Given the description of an element on the screen output the (x, y) to click on. 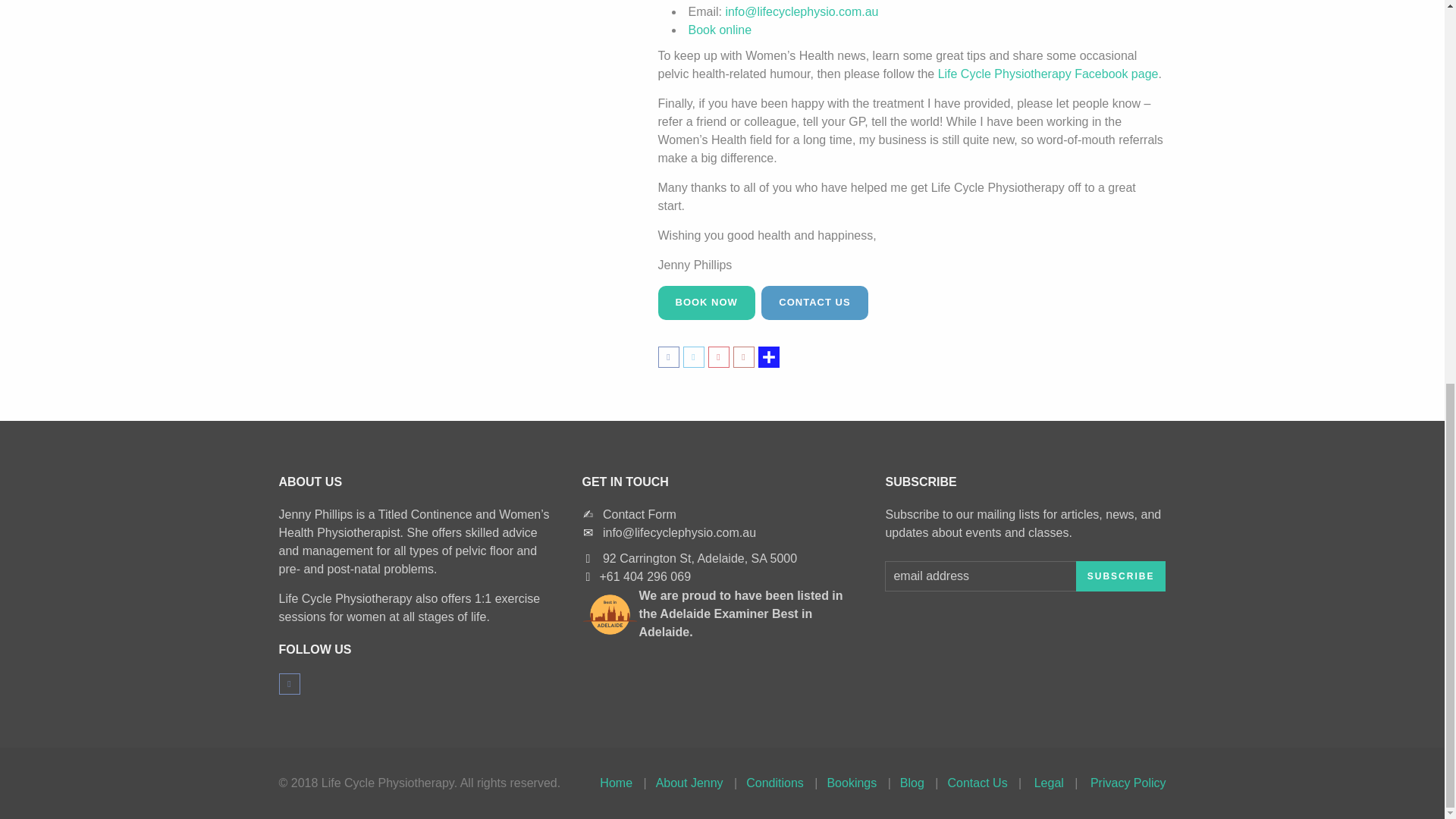
Subscribe (1120, 576)
Book online (720, 29)
